Given the description of an element on the screen output the (x, y) to click on. 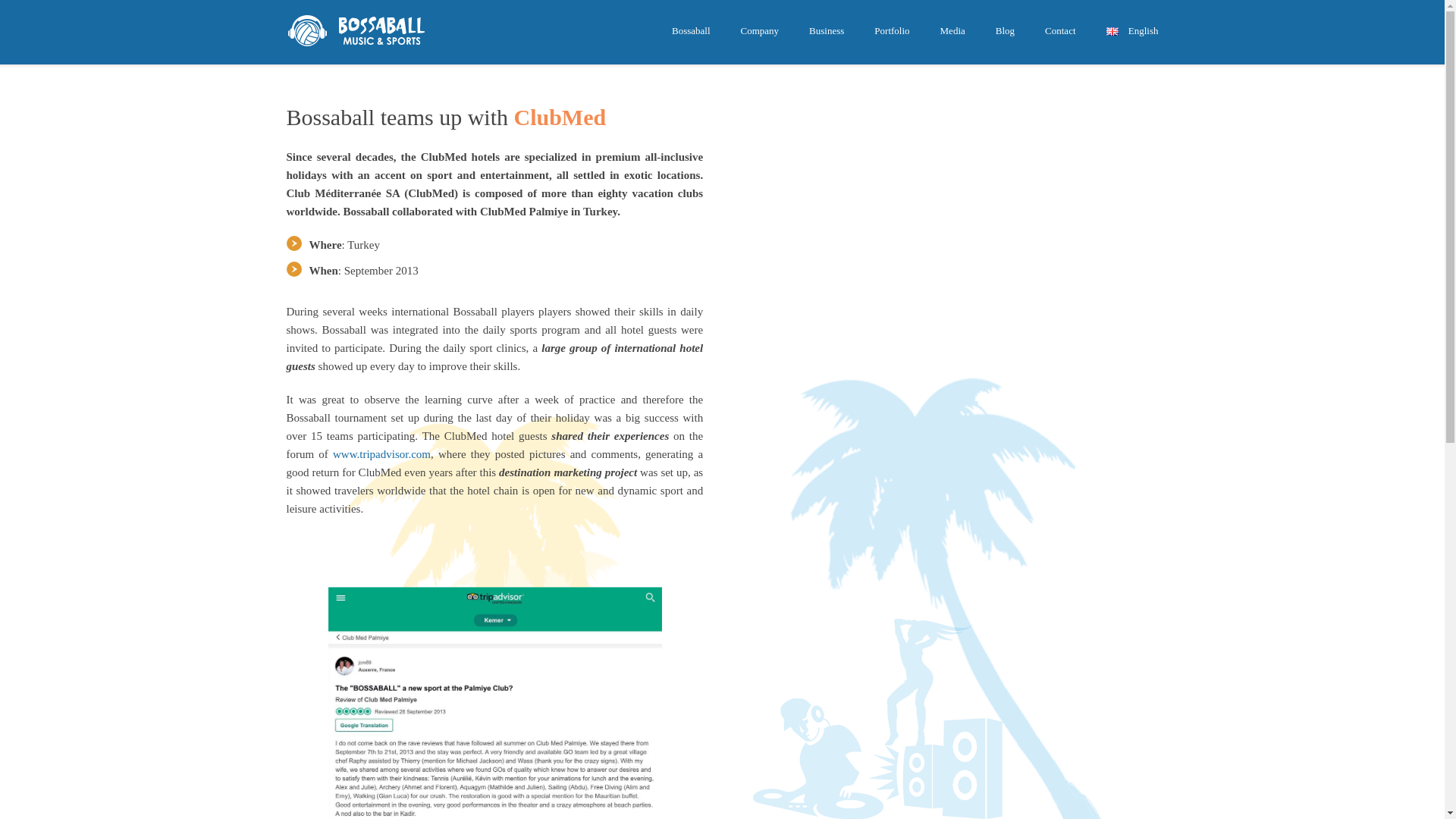
Bossaball (359, 30)
Media (951, 31)
Company (759, 31)
Portfolio (891, 31)
Bossaball (690, 31)
Blog (1004, 31)
Business (826, 31)
English (1115, 31)
Contact (1059, 31)
